Given the description of an element on the screen output the (x, y) to click on. 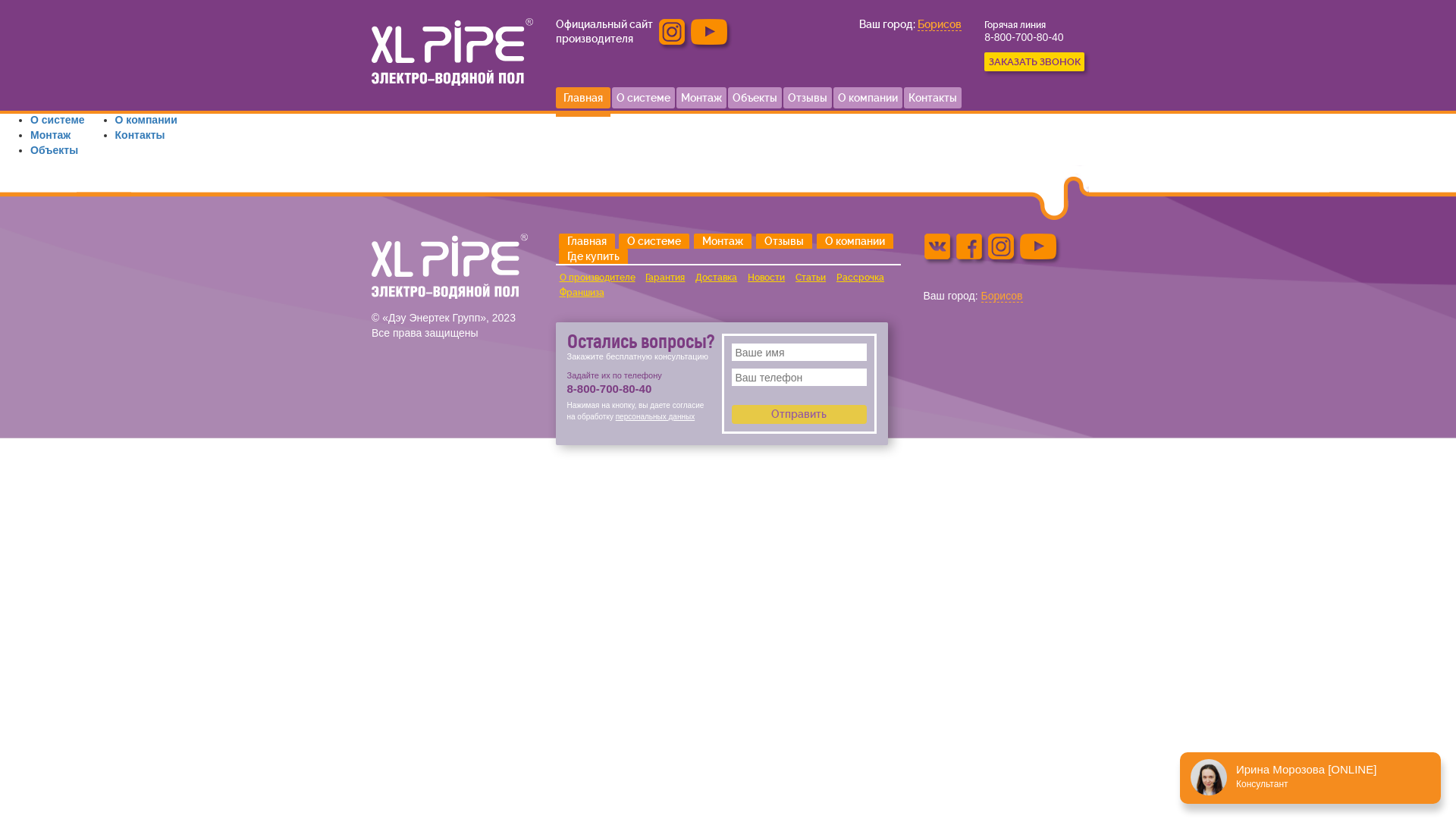
8-800-700-80-40 Element type: text (1023, 37)
